Given the description of an element on the screen output the (x, y) to click on. 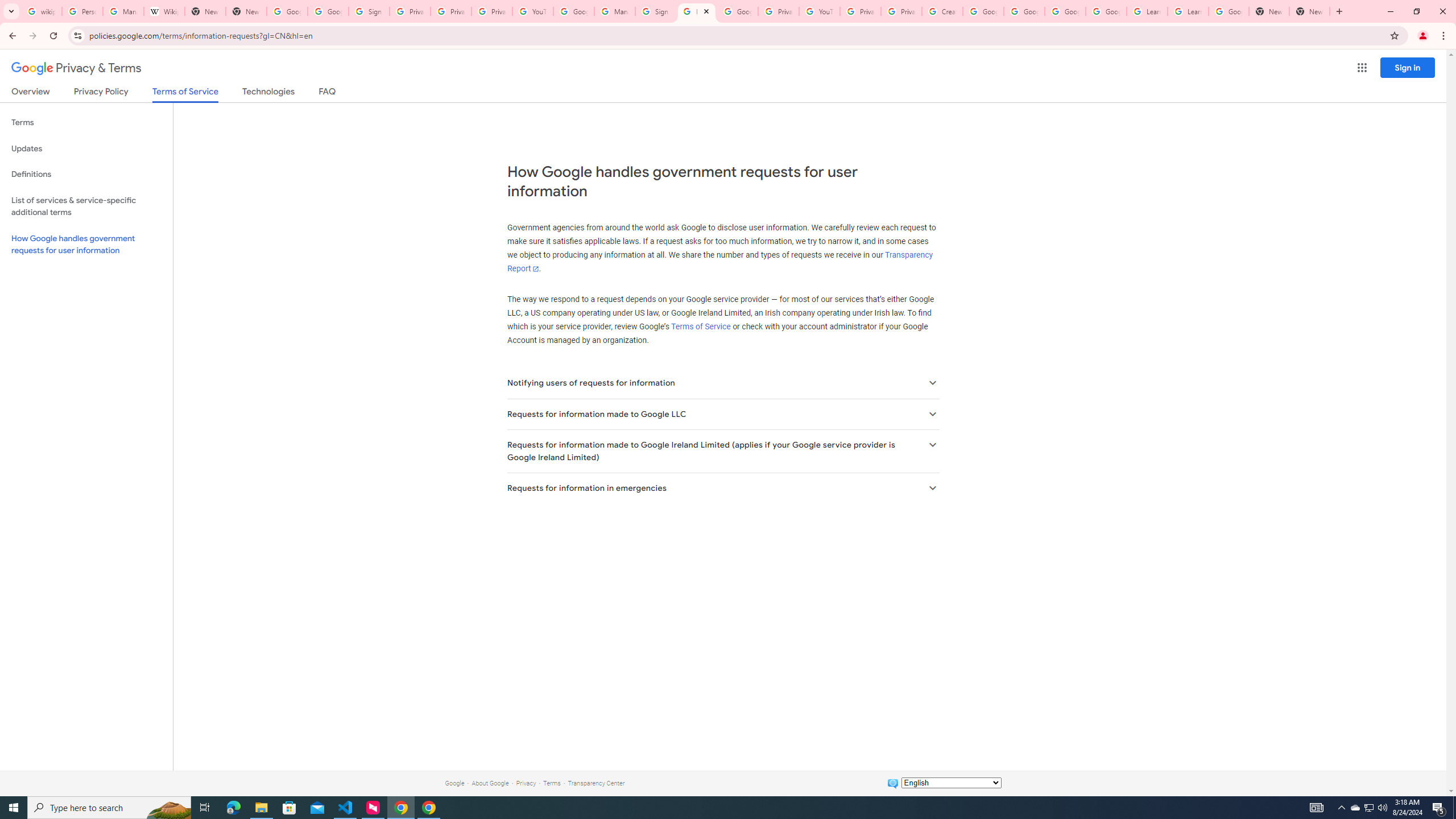
Transparency Report (719, 262)
Google Account Help (1105, 11)
Requests for information made to Google LLC (722, 413)
Google Account Help (1023, 11)
Definitions (86, 174)
